Given the description of an element on the screen output the (x, y) to click on. 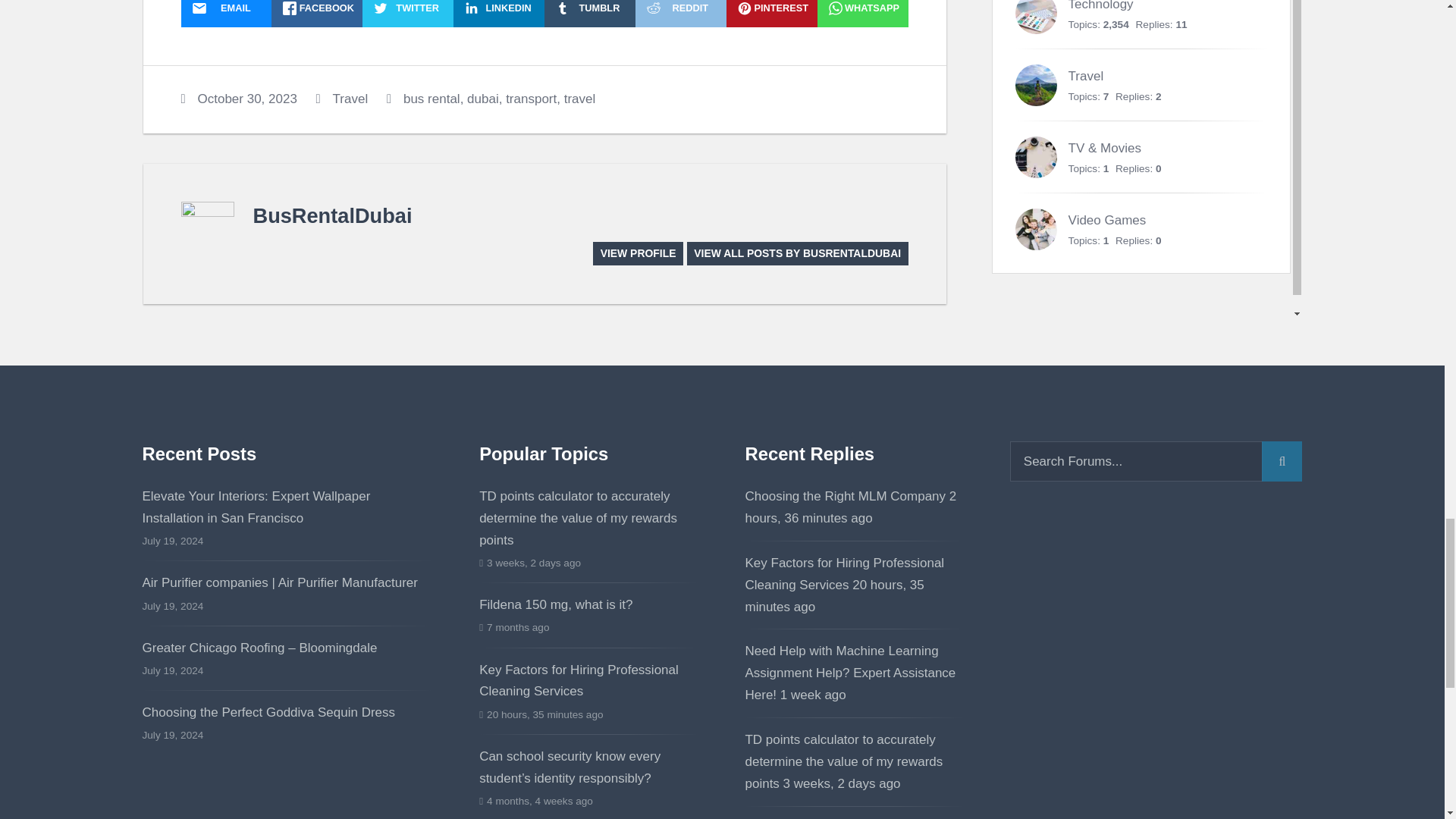
EMAIL (225, 13)
LINKEDIN (498, 13)
PINTEREST (771, 13)
bus rental (431, 98)
dubai (483, 98)
FACEBOOK (316, 13)
travel (579, 98)
WHATSAPP (862, 13)
VIEW PROFILE (637, 253)
TUMBLR (589, 13)
transport (530, 98)
BusRentalDubai (332, 215)
REDDIT (680, 13)
VIEW ALL POSTS BY BUSRENTALDUBAI (797, 253)
Travel (350, 98)
